Given the description of an element on the screen output the (x, y) to click on. 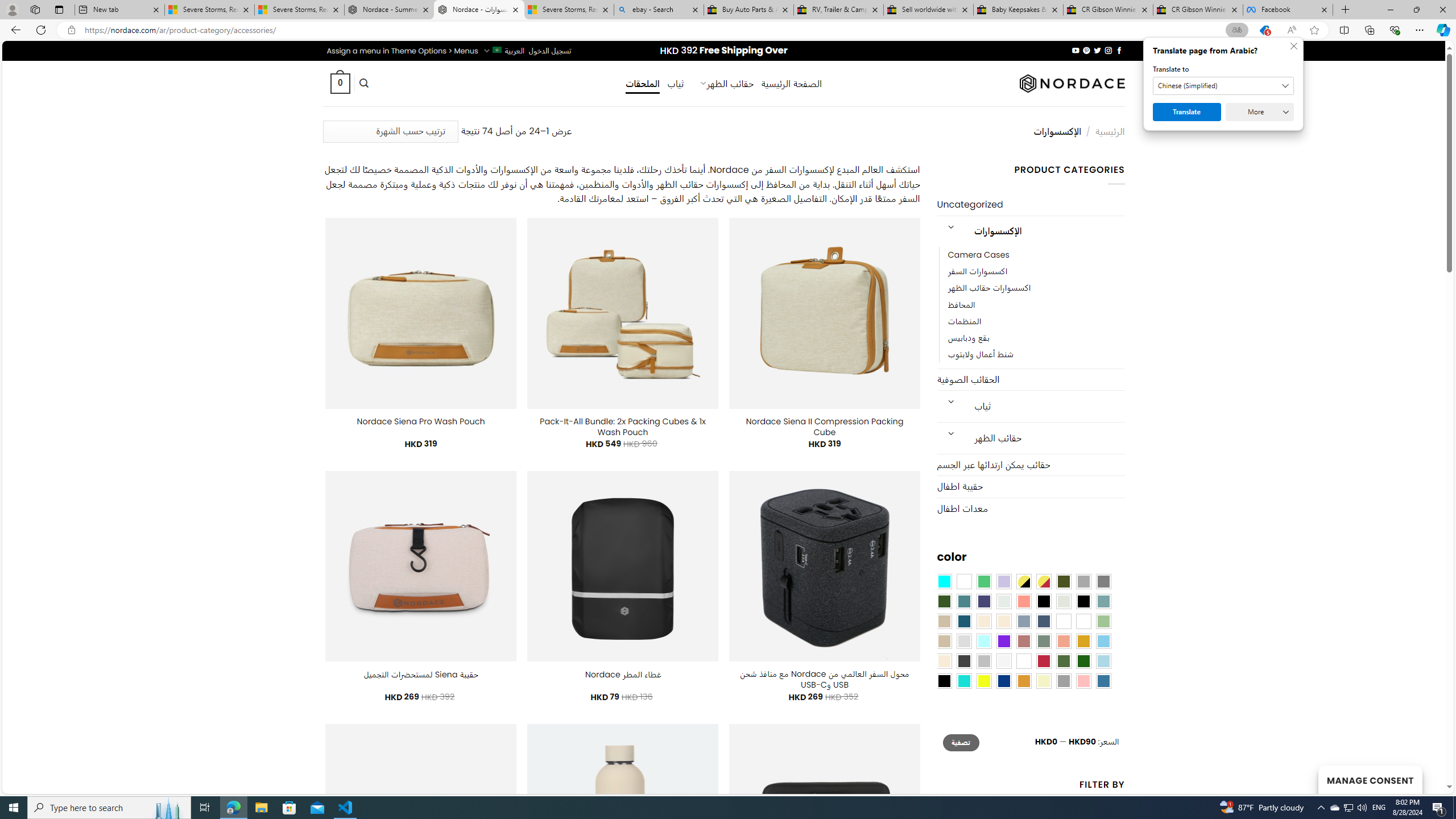
Yellow-Red (1043, 581)
Khaki (1082, 621)
Assign a menu in Theme Options > Menus (402, 50)
Light Green (1103, 621)
Follow on Twitter (1096, 50)
Rose (1023, 640)
